Given the description of an element on the screen output the (x, y) to click on. 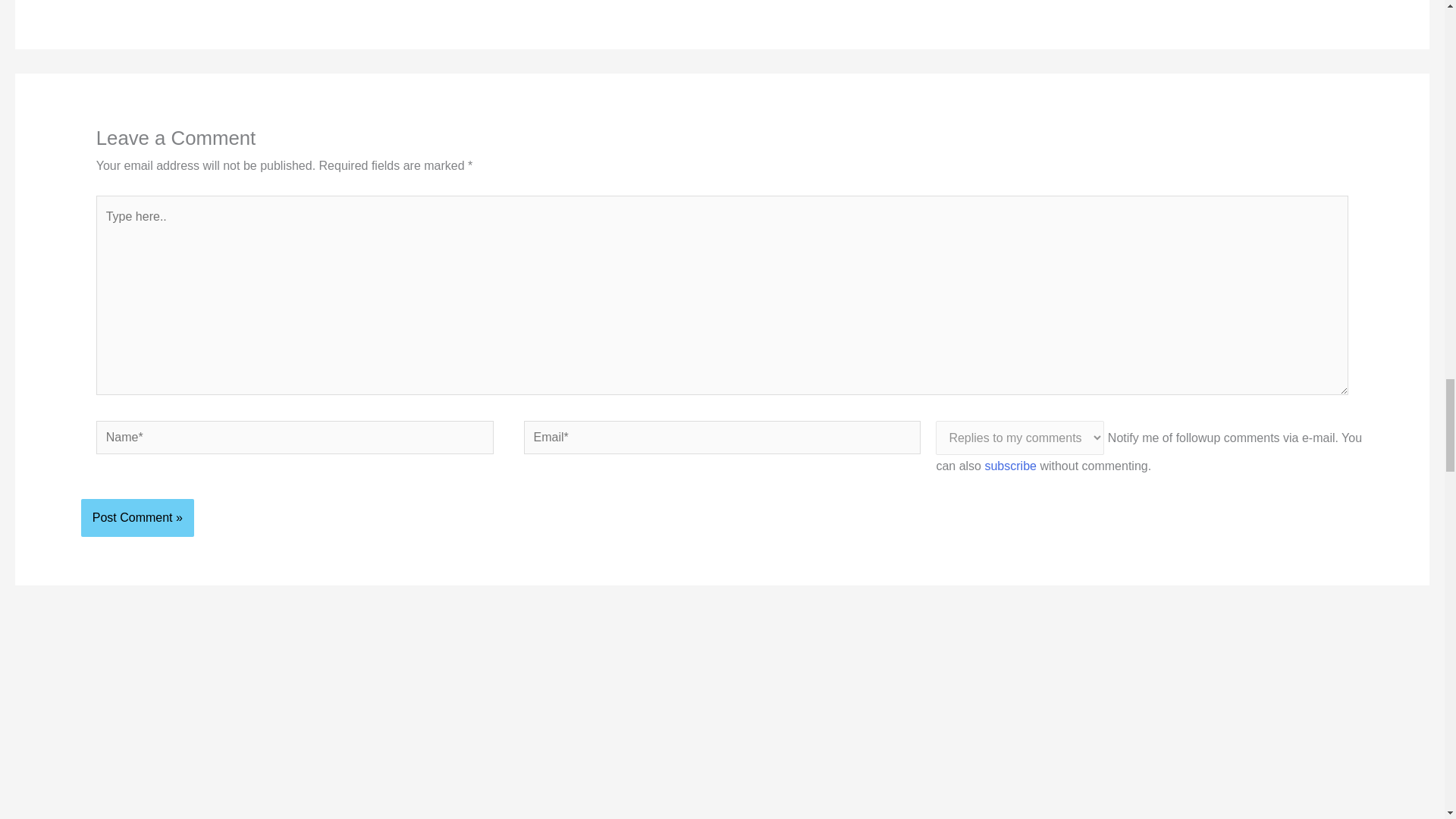
Advertisement (744, 771)
